Given the description of an element on the screen output the (x, y) to click on. 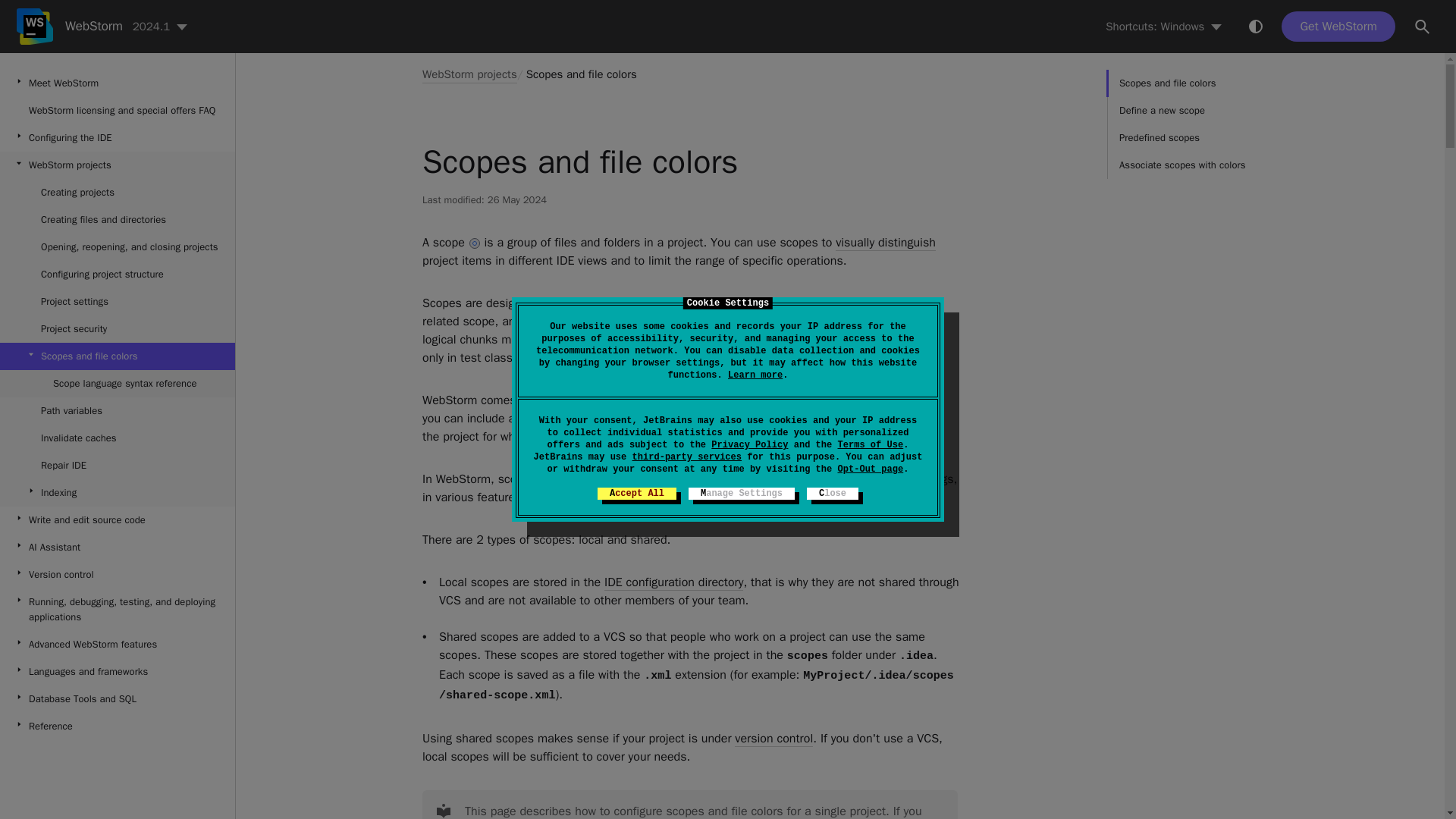
Opening, reopening, and closing projects (117, 247)
Version control (117, 574)
Database Tools and SQL (117, 698)
AI Assistant (117, 547)
predefined scopes (638, 400)
WebStorm projects (117, 165)
Scopes and file colors (117, 356)
Repair IDE (117, 465)
Scopes and file colors (581, 74)
version control (773, 738)
Search (1422, 26)
Switch theme (1255, 26)
the Scope icon (474, 243)
